Given the description of an element on the screen output the (x, y) to click on. 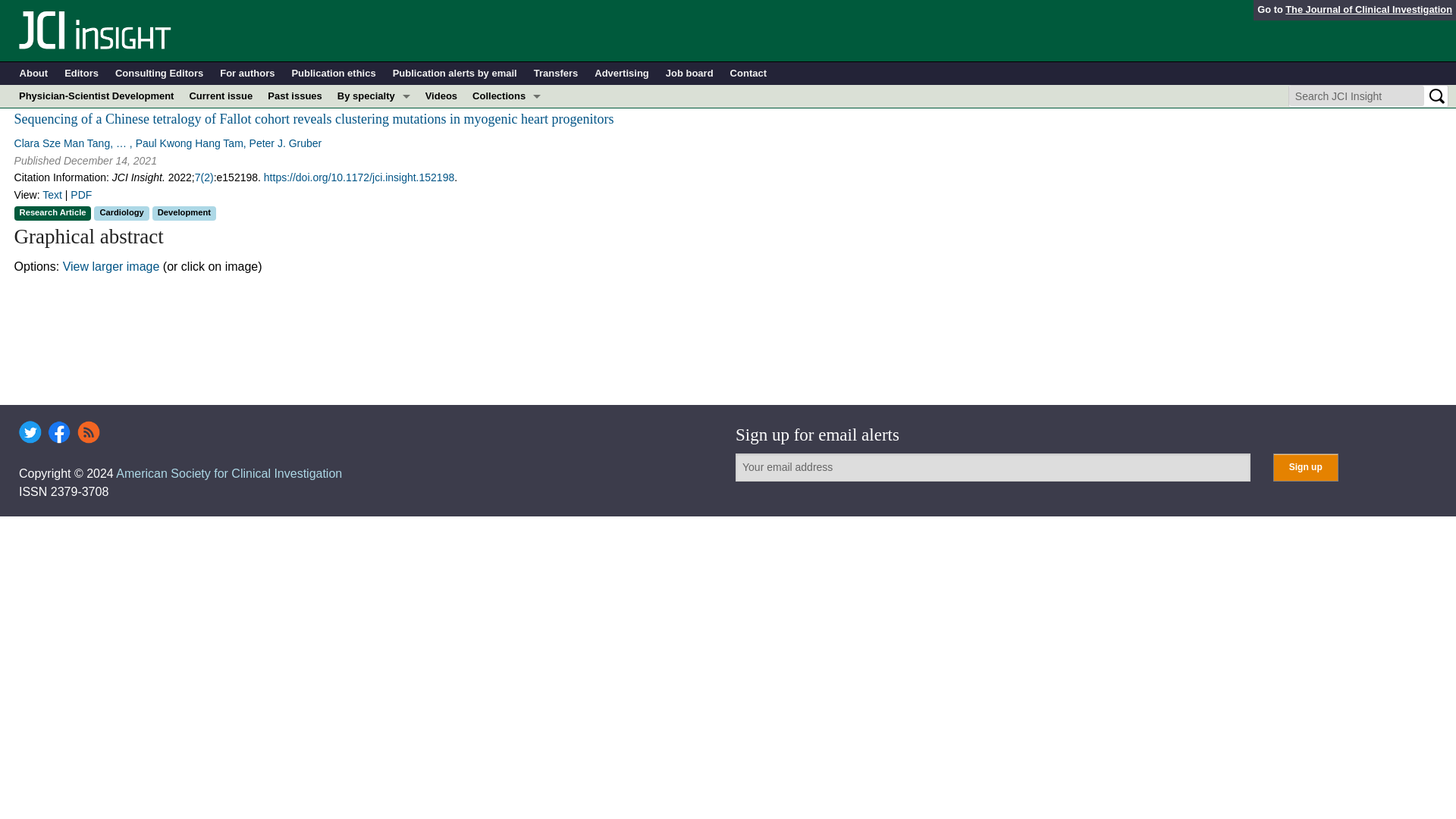
Metabolism (373, 187)
Consulting Editors (159, 73)
Sign up (1305, 467)
Pulmonology (373, 255)
Publication alerts by email (454, 73)
Facebook (58, 431)
Physician-Scientist Development (506, 232)
Job board (689, 73)
The Journal of Clinical Investigation (1368, 9)
Physician-Scientist Development (95, 96)
Oncology (373, 232)
Reviews (506, 255)
Resource and Technical Advances (506, 141)
Publication ethics (333, 73)
RSS (88, 431)
